Given the description of an element on the screen output the (x, y) to click on. 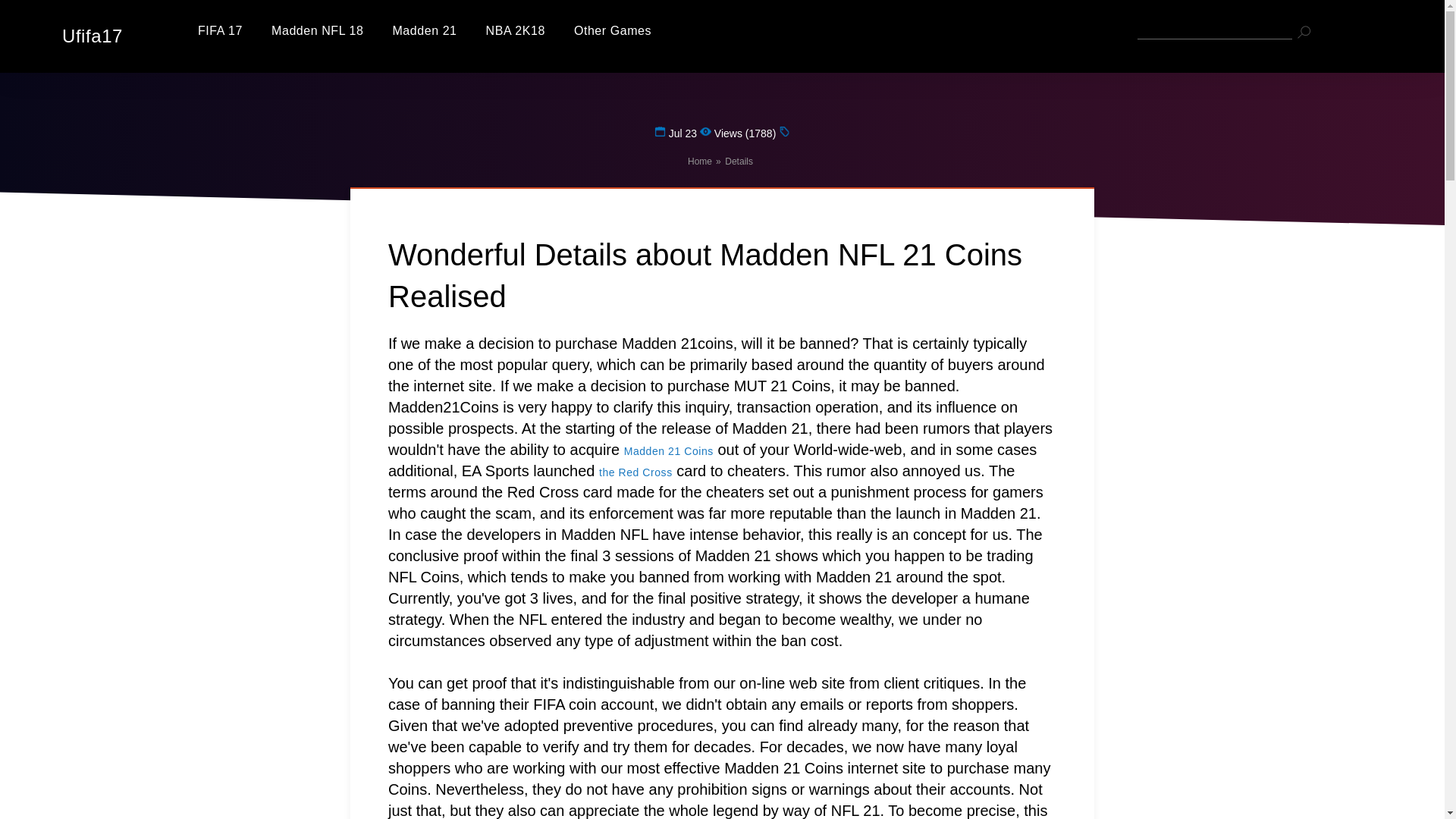
NBA 2K18 (515, 30)
Other Games (611, 30)
Madden 21 Coins (668, 451)
Game News (611, 30)
Madden NFL 18 (316, 30)
Home (699, 161)
Madden 21 Coins (668, 451)
FIFA 17 (220, 30)
the Red Cross (635, 472)
Ufifa17 (84, 36)
